Given the description of an element on the screen output the (x, y) to click on. 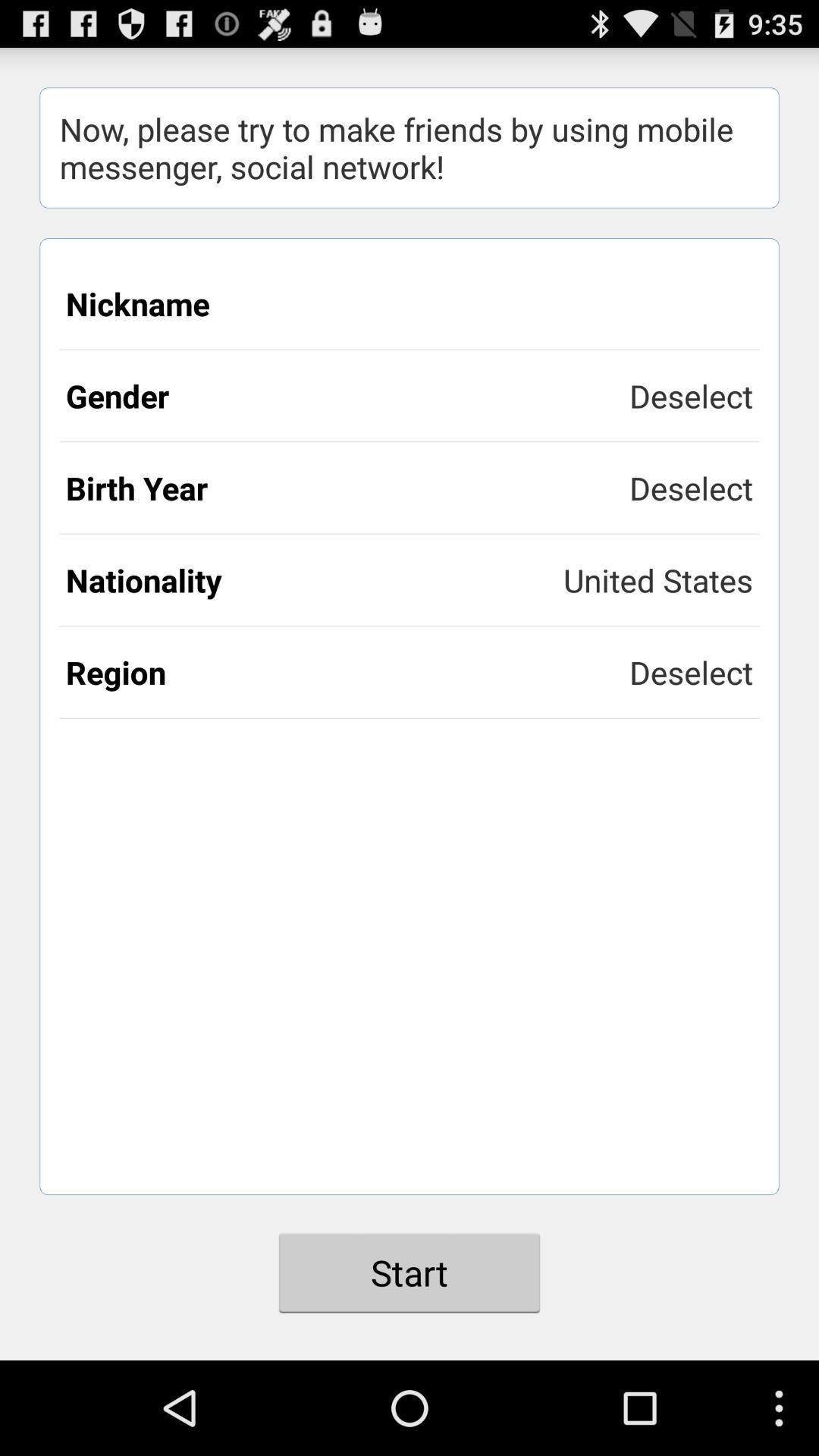
tap app above the region (314, 579)
